Given the description of an element on the screen output the (x, y) to click on. 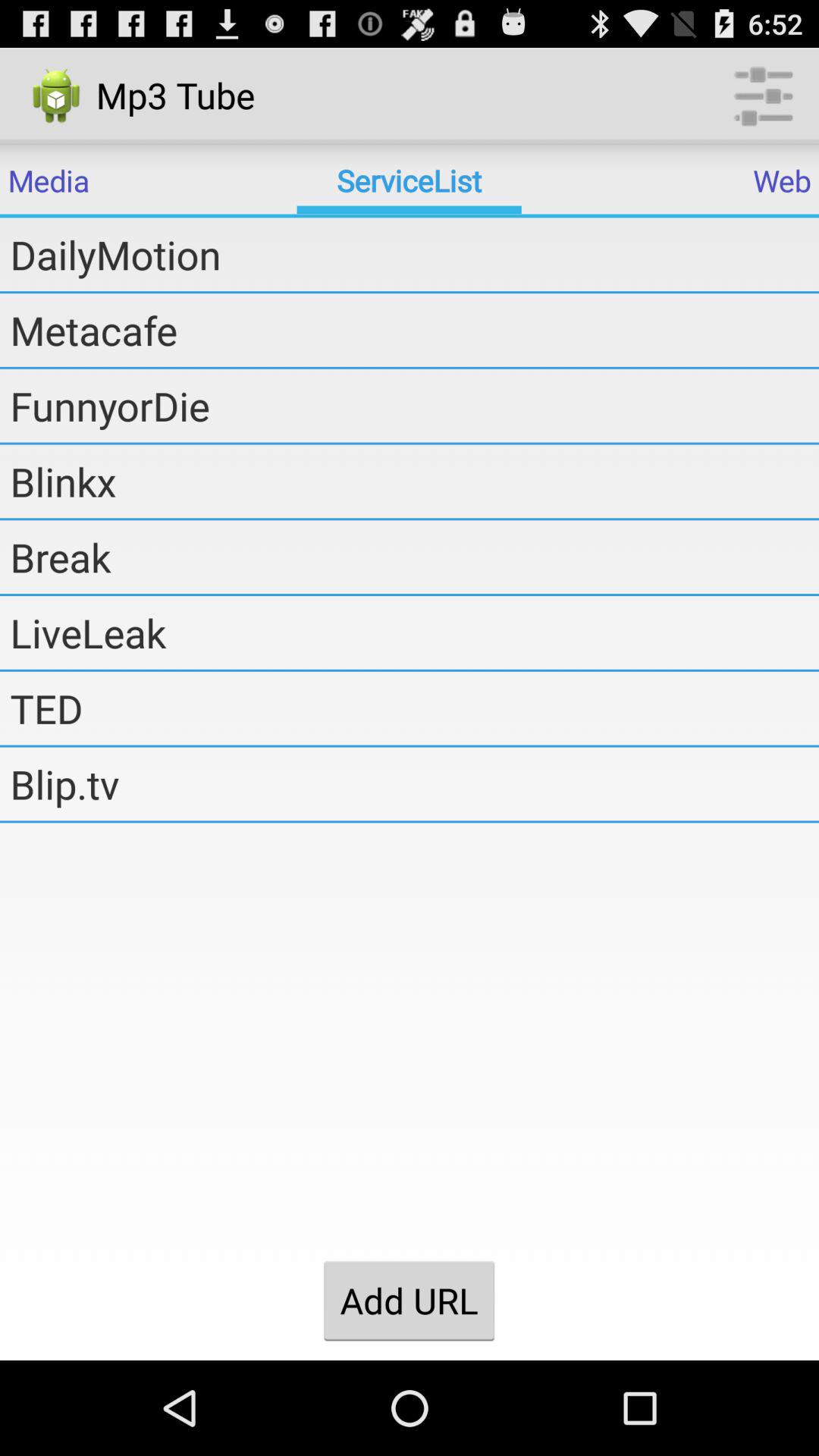
turn off the icon above the metacafe icon (414, 254)
